Given the description of an element on the screen output the (x, y) to click on. 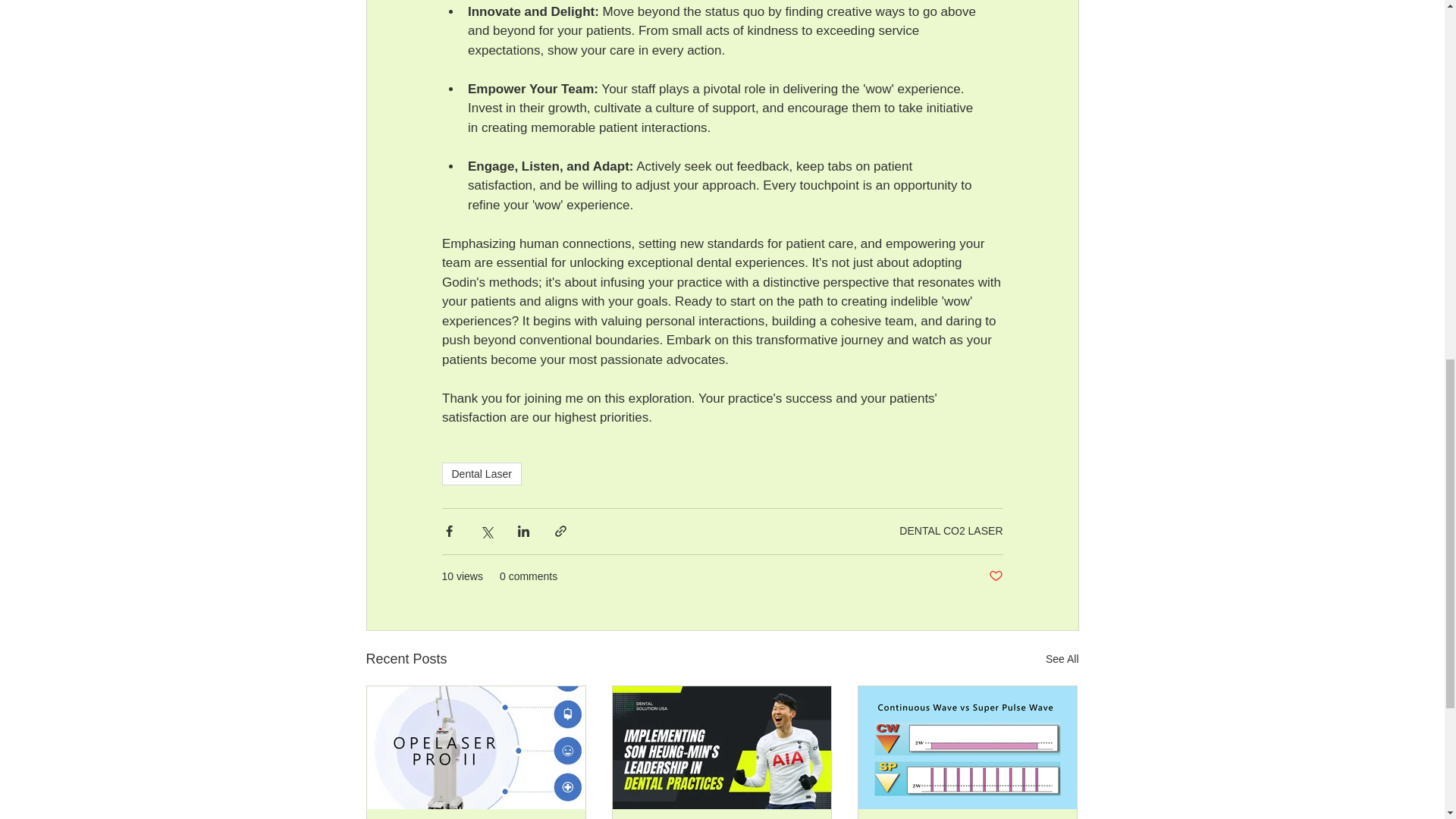
DENTAL CO2 LASER (951, 530)
See All (1061, 658)
Dental Laser (481, 473)
Post not marked as liked (995, 576)
